Given the description of an element on the screen output the (x, y) to click on. 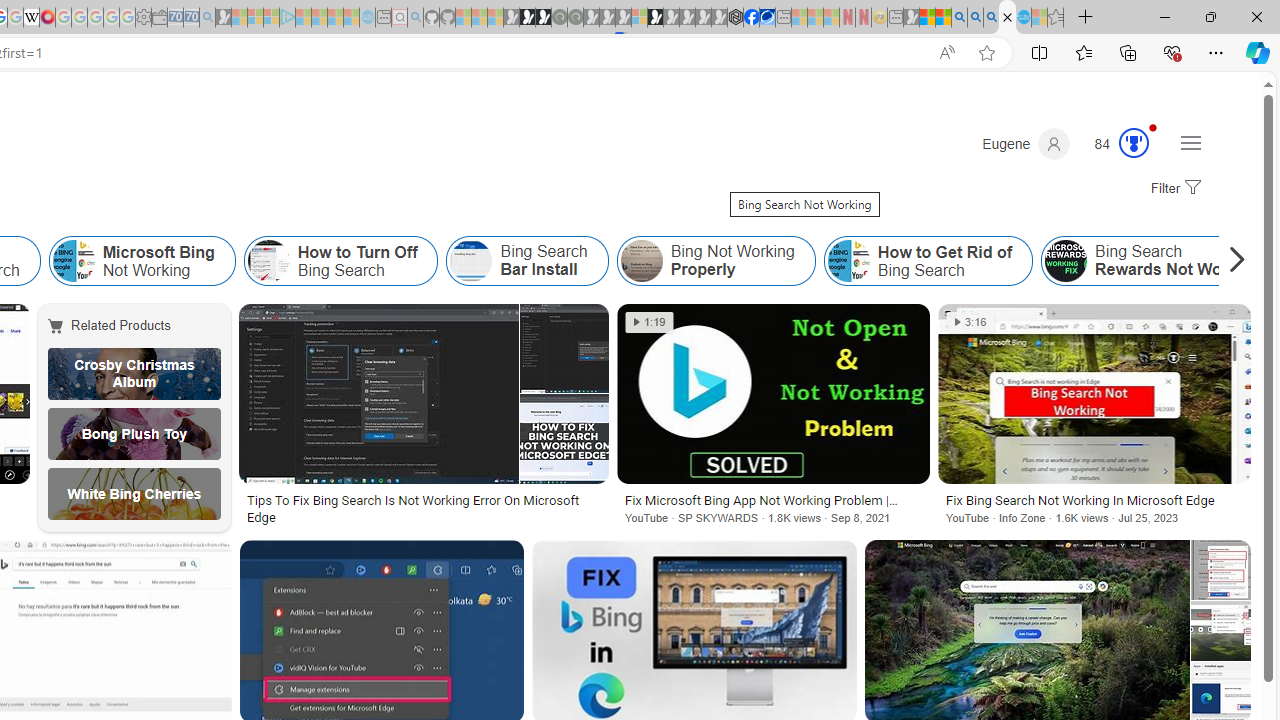
Bing Not Working Properly (641, 260)
Bing Search Rewards Not Working (1066, 260)
Crosby Christmas Album (134, 373)
